Given the description of an element on the screen output the (x, y) to click on. 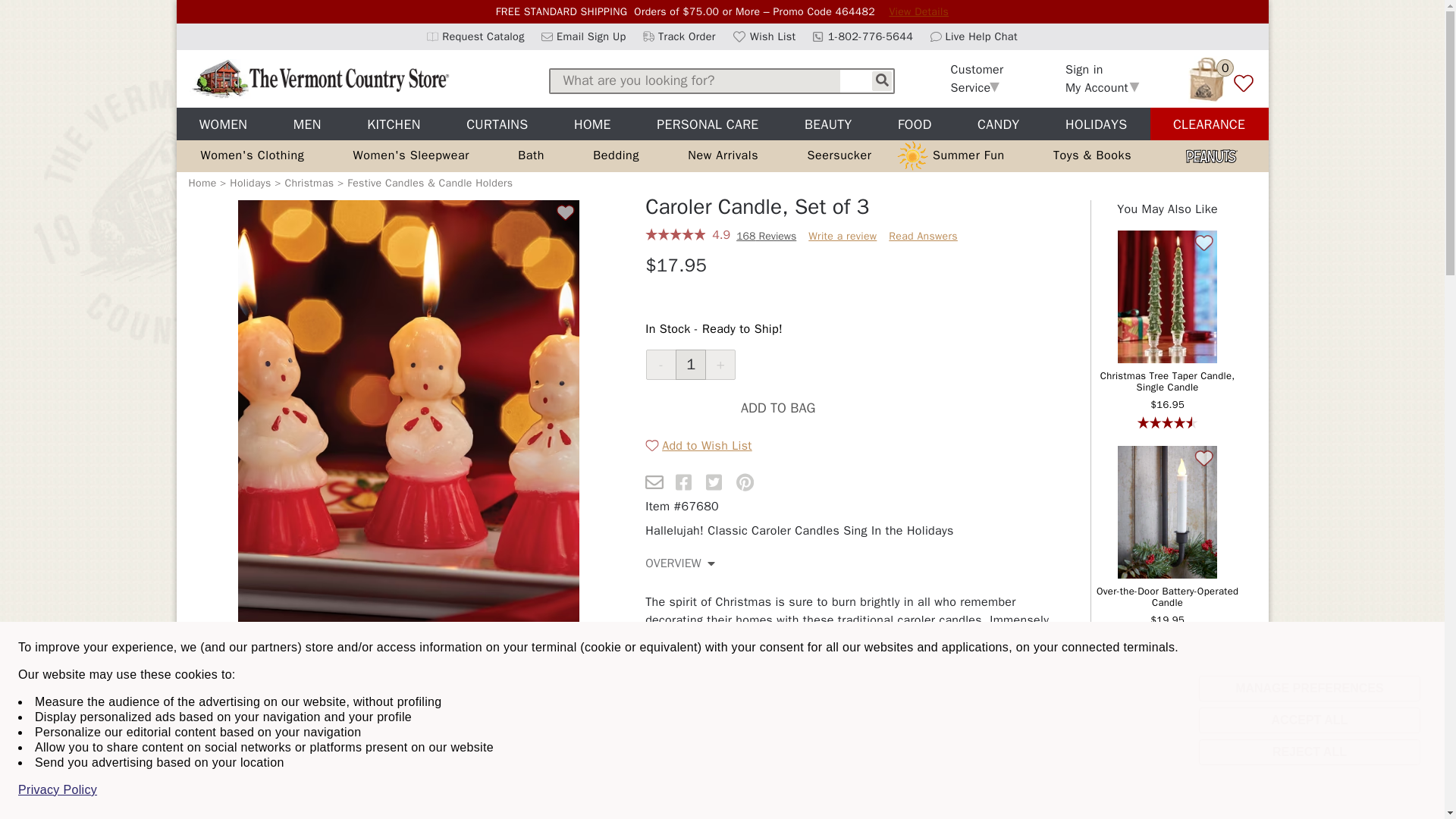
PayPal Message 1 (834, 295)
Privacy Policy (57, 789)
Decrease Quantity (661, 364)
Wish List (764, 36)
Request Catalog (475, 36)
Track Order (678, 36)
1 (976, 78)
Add to Wish List (690, 364)
Search Button (565, 211)
4.9 out of 5 (881, 80)
1-802-776-5644 (675, 236)
Live Help Chat (863, 36)
View Details (973, 36)
Email Sign Up (918, 11)
